Given the description of an element on the screen output the (x, y) to click on. 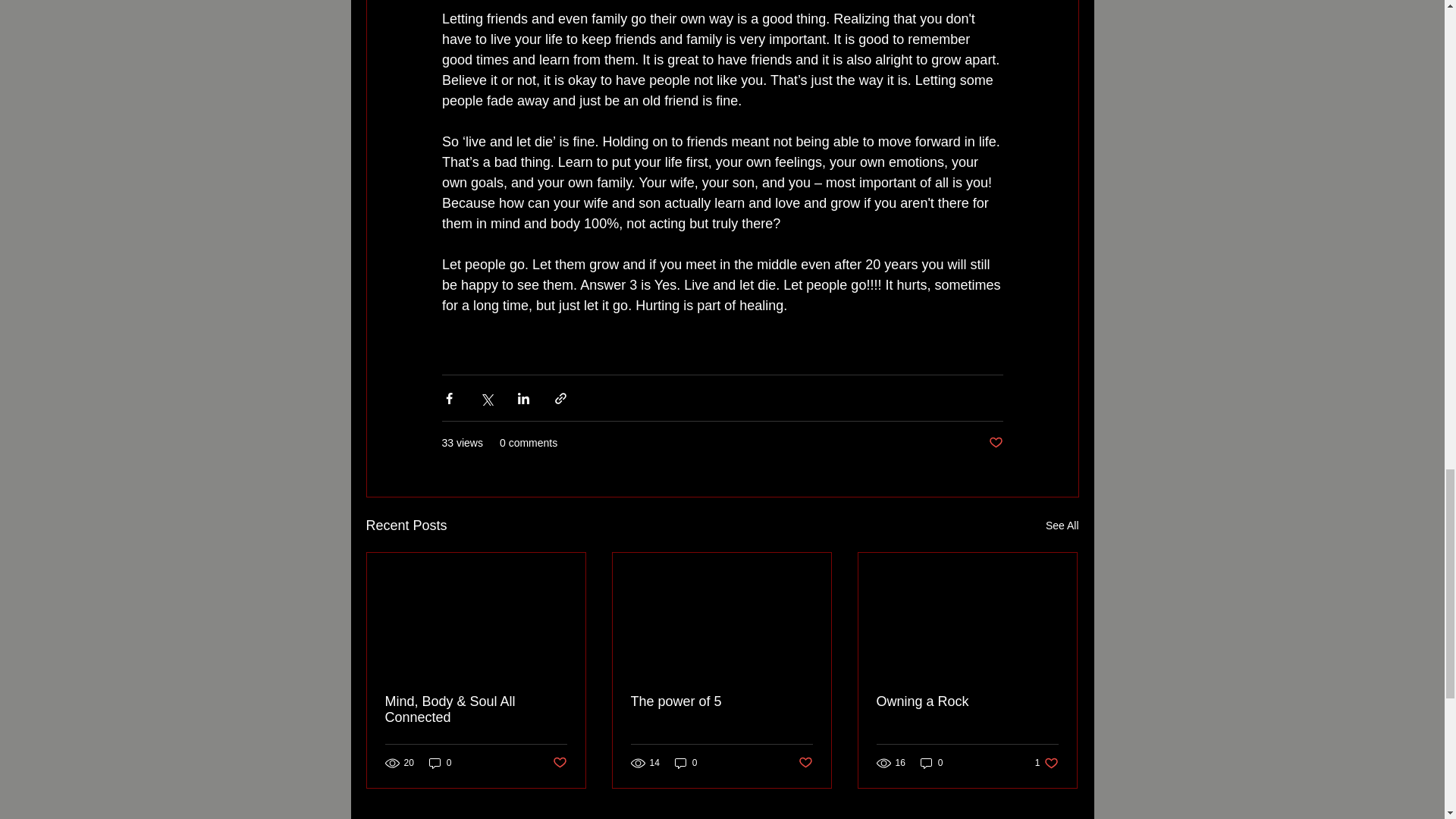
Post not marked as liked (995, 442)
0 (931, 762)
The power of 5 (721, 701)
Post not marked as liked (804, 763)
Owning a Rock (967, 701)
See All (1061, 526)
Post not marked as liked (558, 763)
0 (685, 762)
0 (1046, 762)
